Given the description of an element on the screen output the (x, y) to click on. 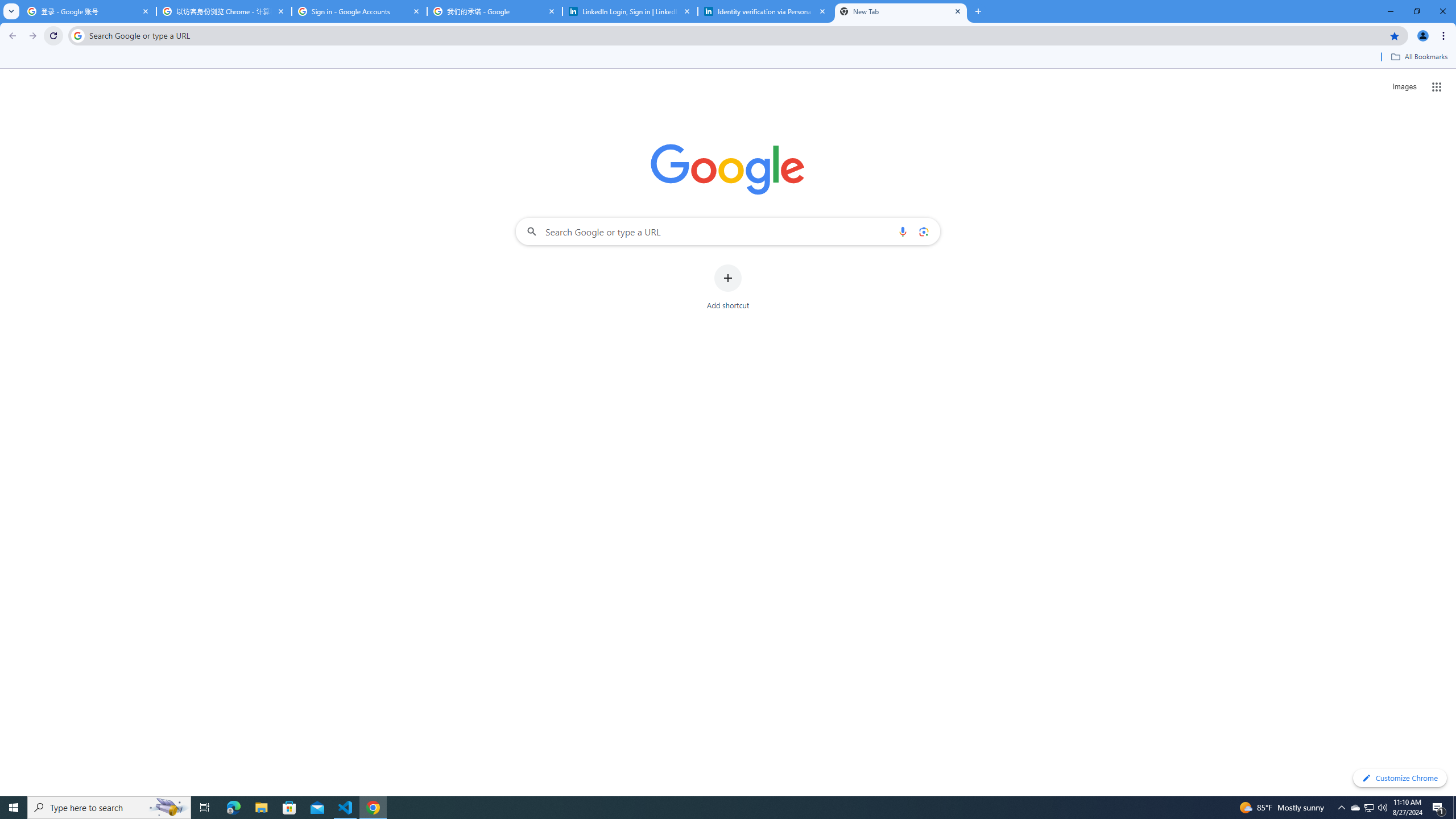
Identity verification via Persona | LinkedIn Help (765, 11)
Search Google or type a URL (727, 230)
LinkedIn Login, Sign in | LinkedIn (630, 11)
Bookmarks (728, 58)
New Tab (901, 11)
